Given the description of an element on the screen output the (x, y) to click on. 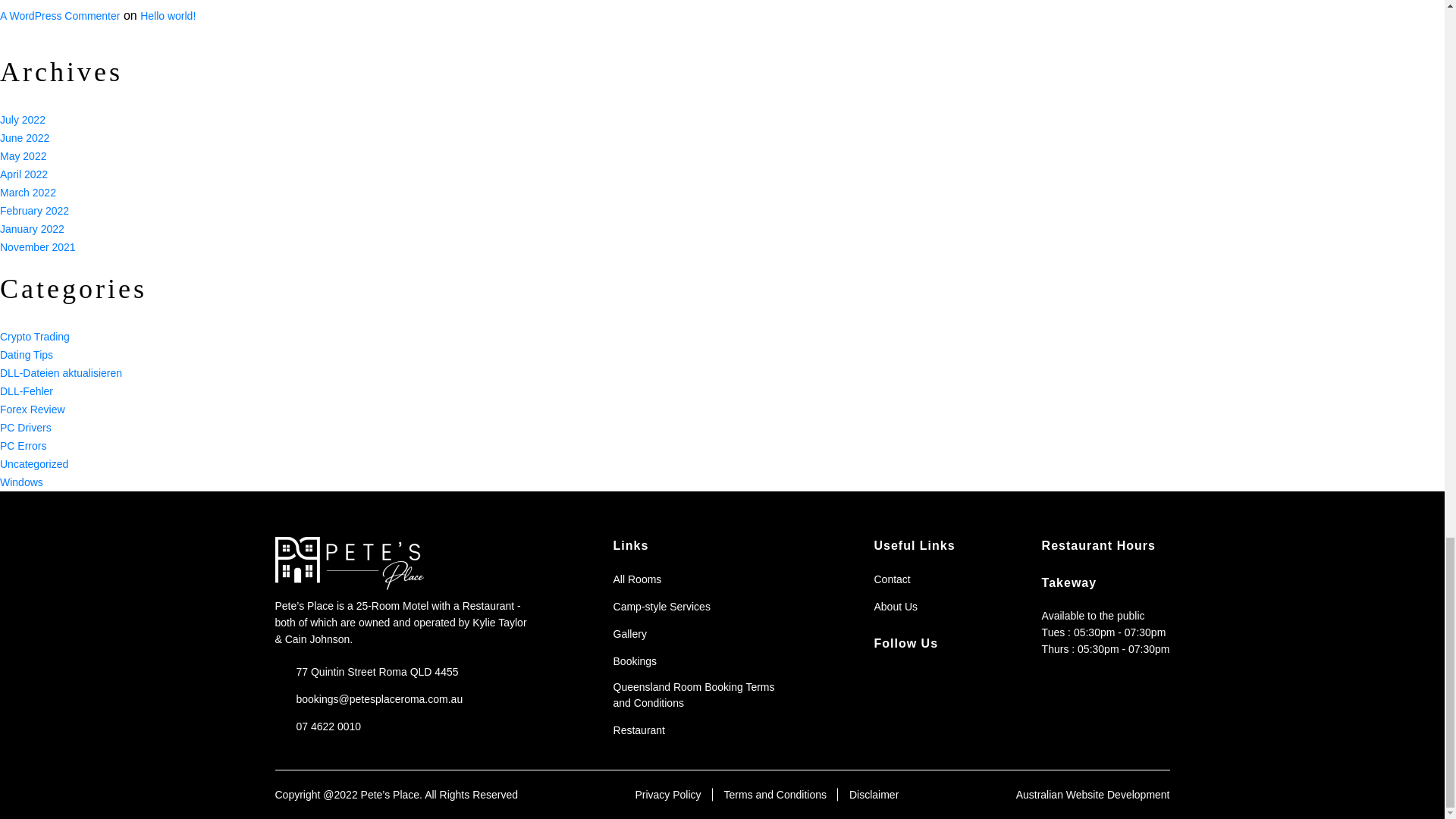
February 2022 (34, 210)
PC Errors (23, 445)
May 2022 (23, 155)
Crypto Trading (34, 336)
Dating Tips (26, 354)
July 2022 (22, 119)
Forex Review (32, 409)
DLL-Fehler (26, 391)
November 2021 (37, 246)
Hello world! (167, 15)
